Given the description of an element on the screen output the (x, y) to click on. 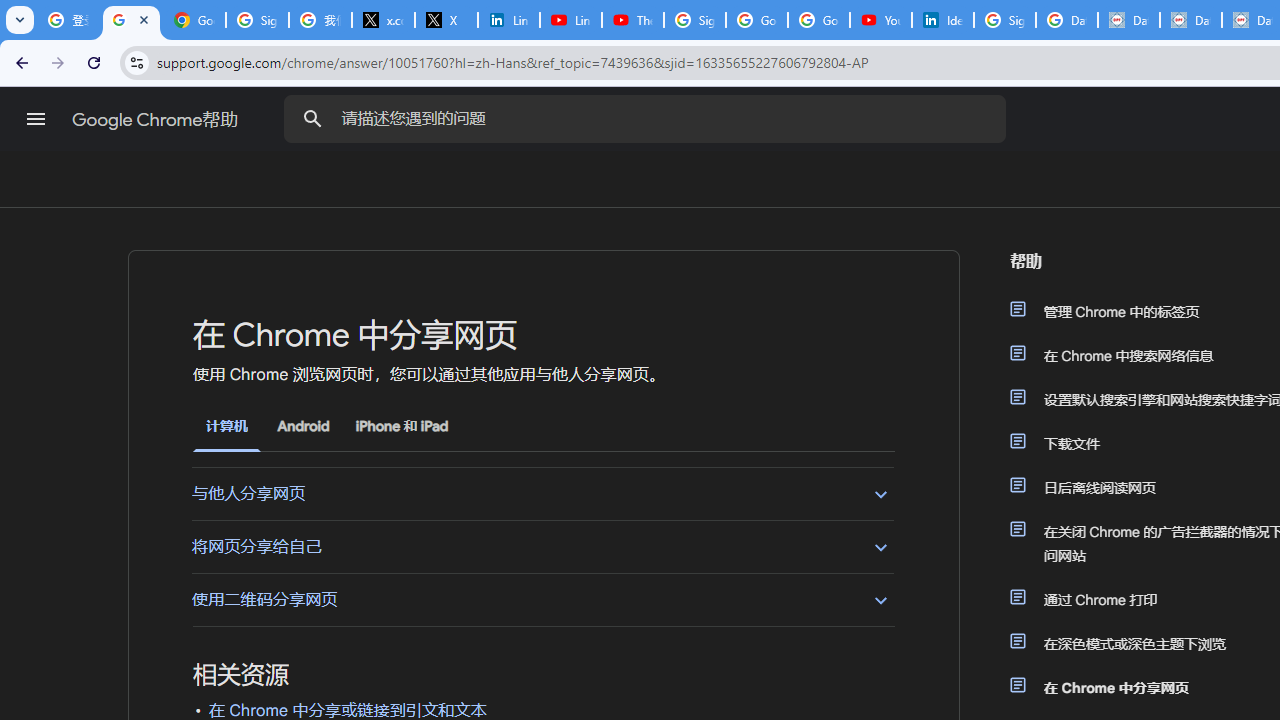
X (445, 20)
LinkedIn - YouTube (570, 20)
Data Privacy Framework (1190, 20)
Sign in - Google Accounts (257, 20)
